Given the description of an element on the screen output the (x, y) to click on. 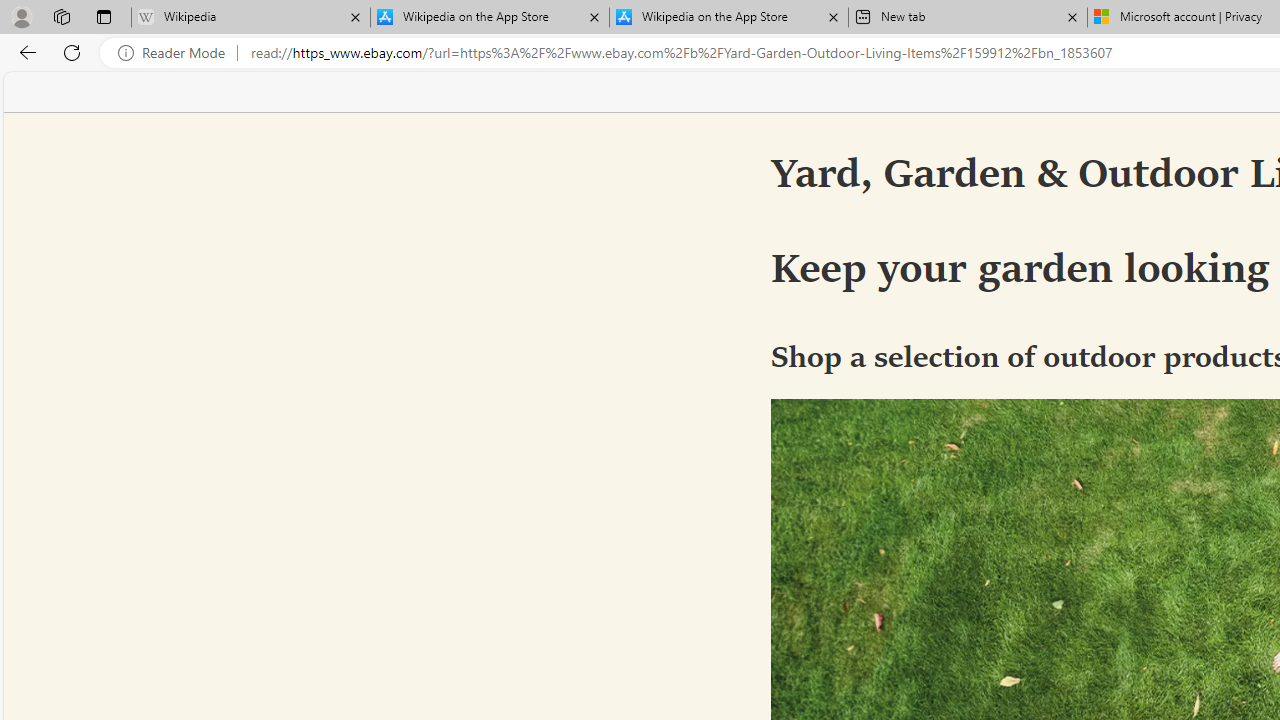
Reader Mode (177, 53)
Wikipedia - Sleeping (250, 17)
